Given the description of an element on the screen output the (x, y) to click on. 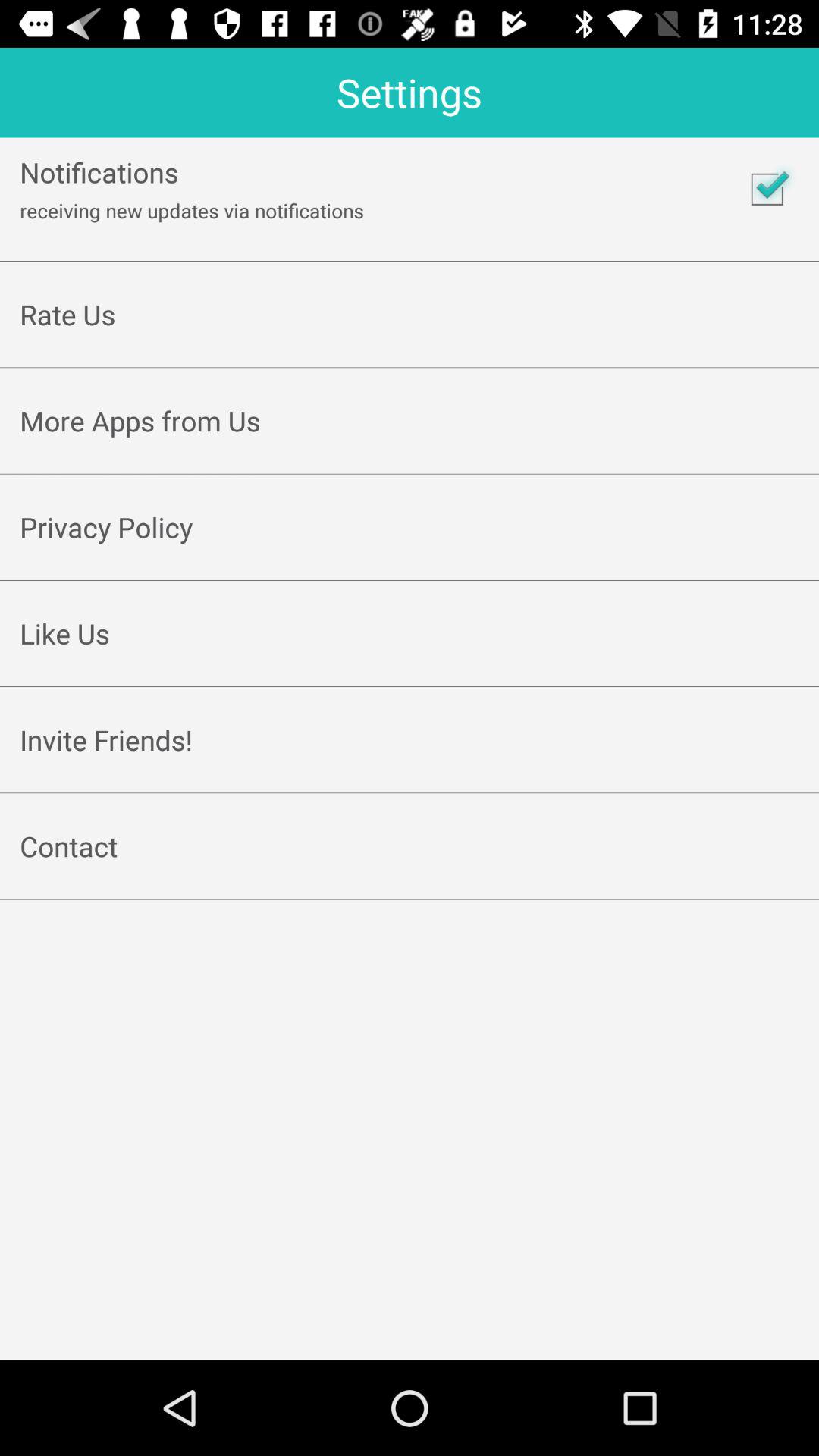
select item below privacy policy item (409, 563)
